Given the description of an element on the screen output the (x, y) to click on. 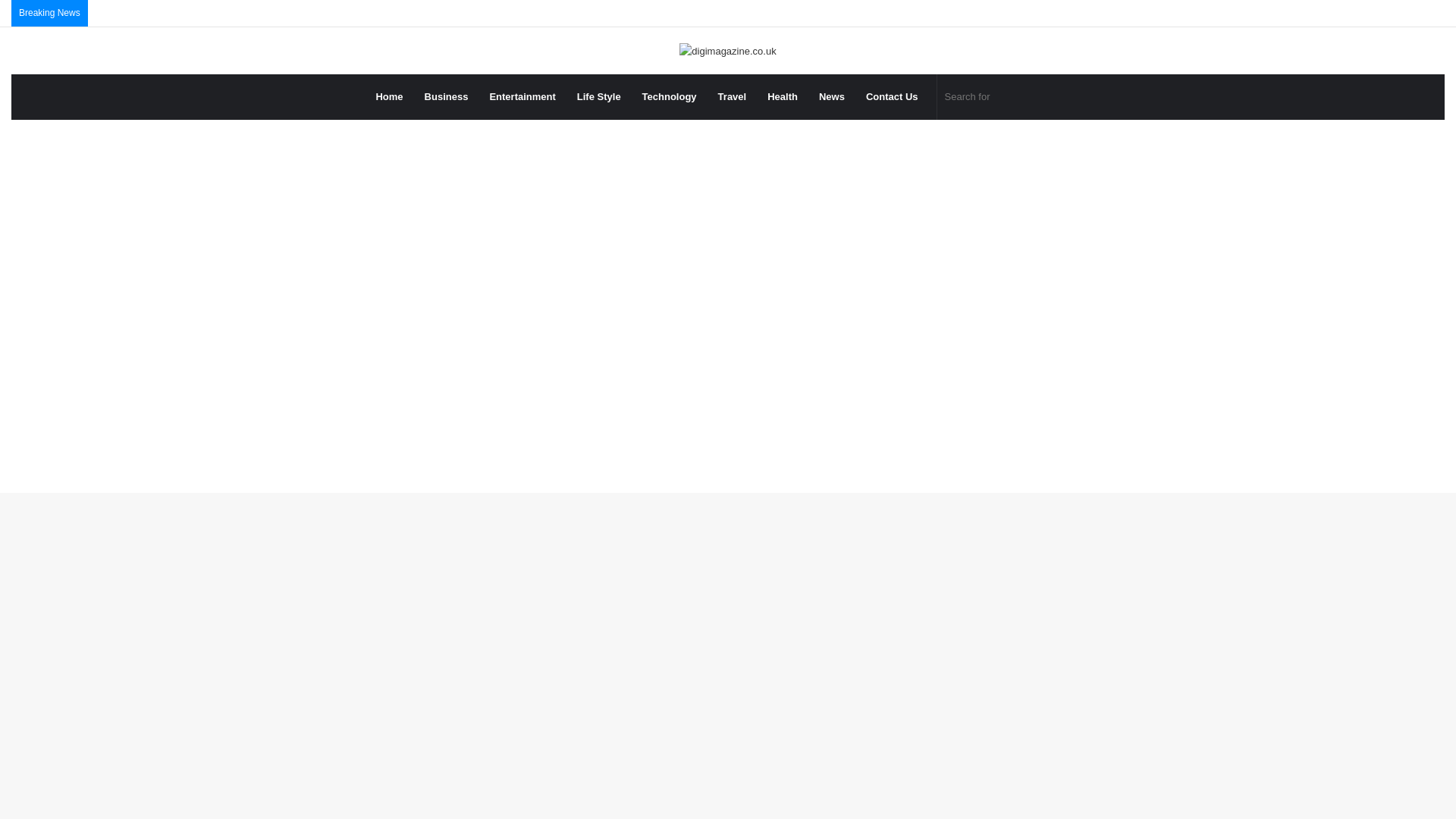
News (832, 96)
Home (389, 96)
Contact Us (892, 96)
digimagazine.co.uk (727, 50)
Search for (1013, 96)
Entertainment (522, 96)
Business (446, 96)
Life Style (598, 96)
Travel (732, 96)
Technology (669, 96)
